Given the description of an element on the screen output the (x, y) to click on. 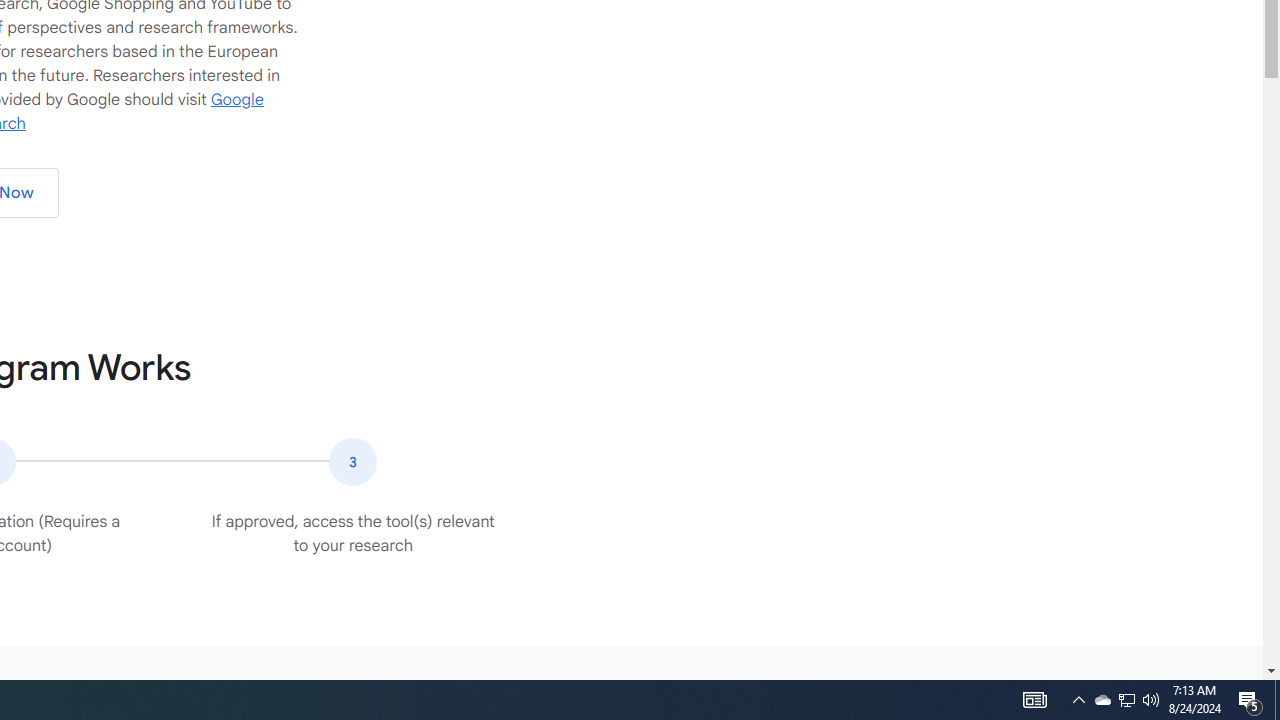
The number three in a circular icon. (352, 461)
